Given the description of an element on the screen output the (x, y) to click on. 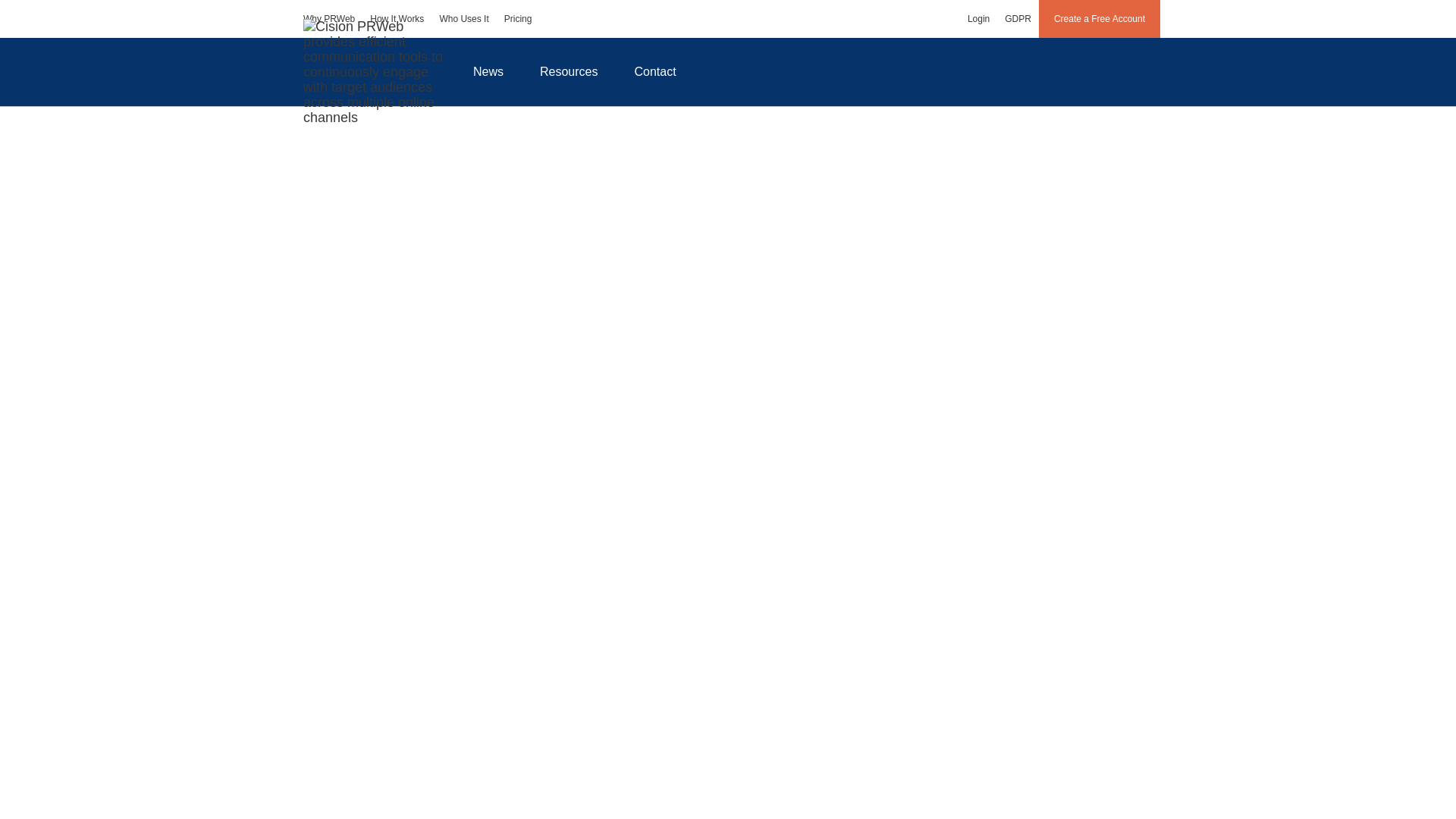
Resources (568, 71)
Login (978, 18)
How It Works (396, 18)
Why PRWeb (328, 18)
Who Uses It (463, 18)
Create a Free Account (1099, 18)
GDPR (1018, 18)
Pricing (518, 18)
News (487, 71)
Contact (654, 71)
